Given the description of an element on the screen output the (x, y) to click on. 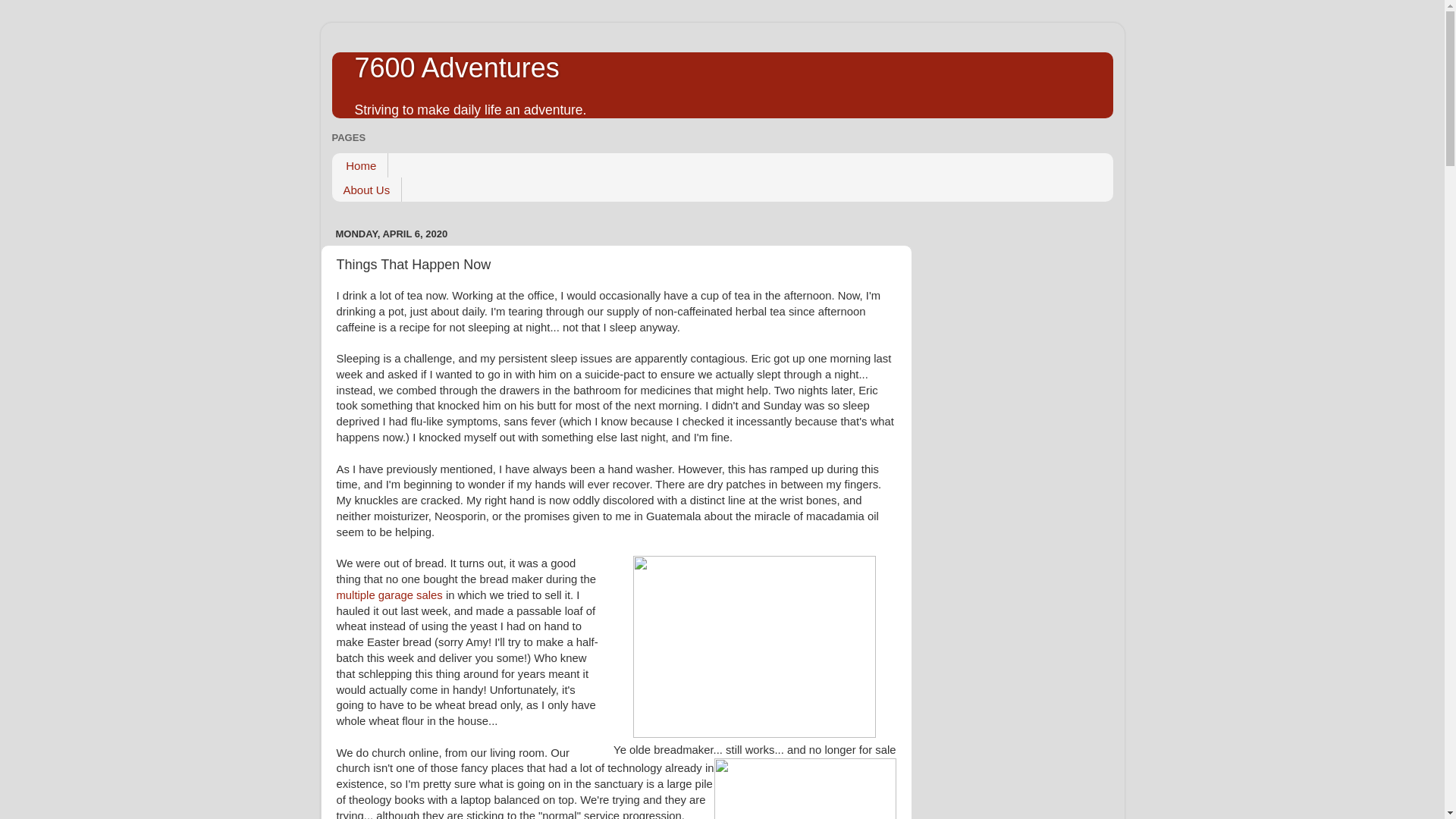
7600 Adventures (457, 67)
multiple garage sales (389, 594)
About Us (367, 189)
Home (359, 165)
